Given the description of an element on the screen output the (x, y) to click on. 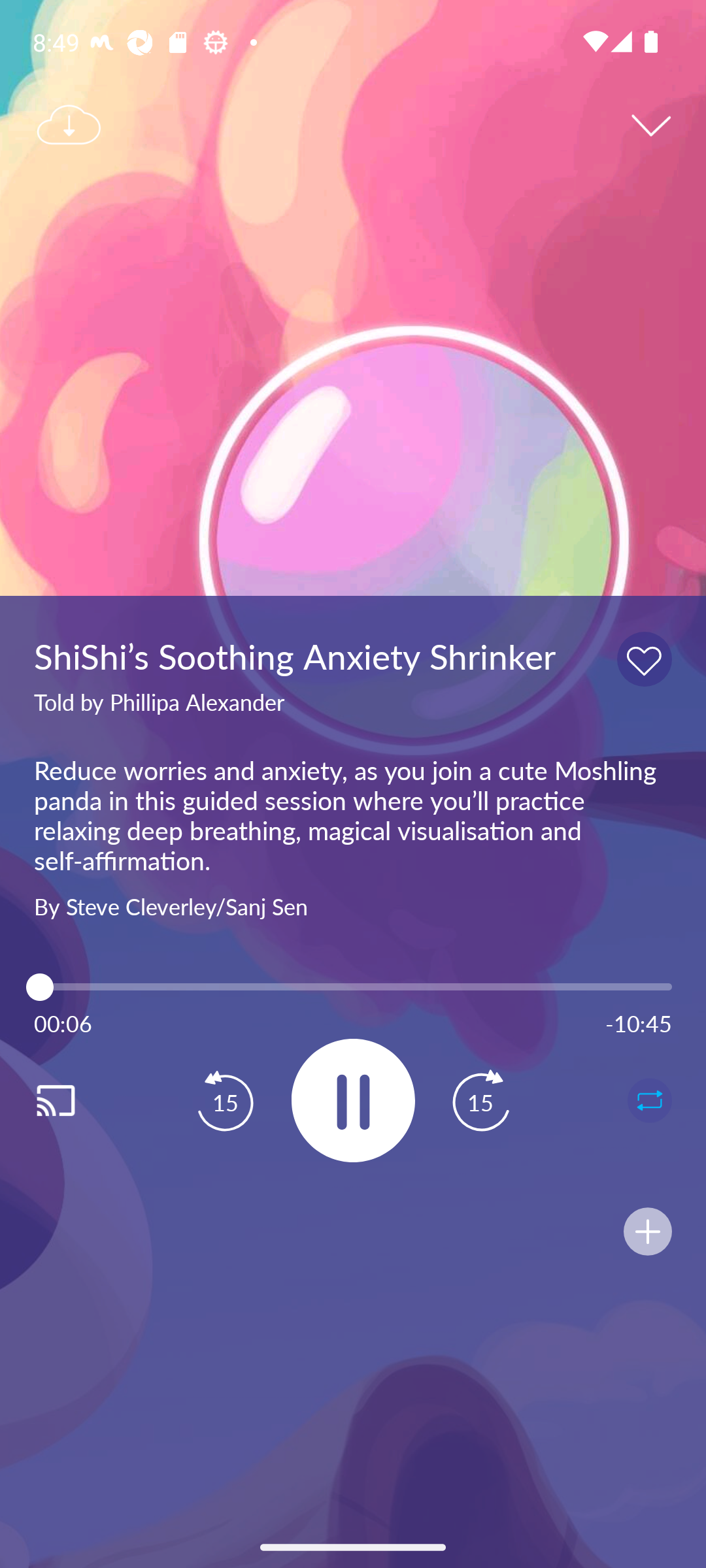
6.0 (352, 986)
Cast. Disconnected (76, 1100)
